Given the description of an element on the screen output the (x, y) to click on. 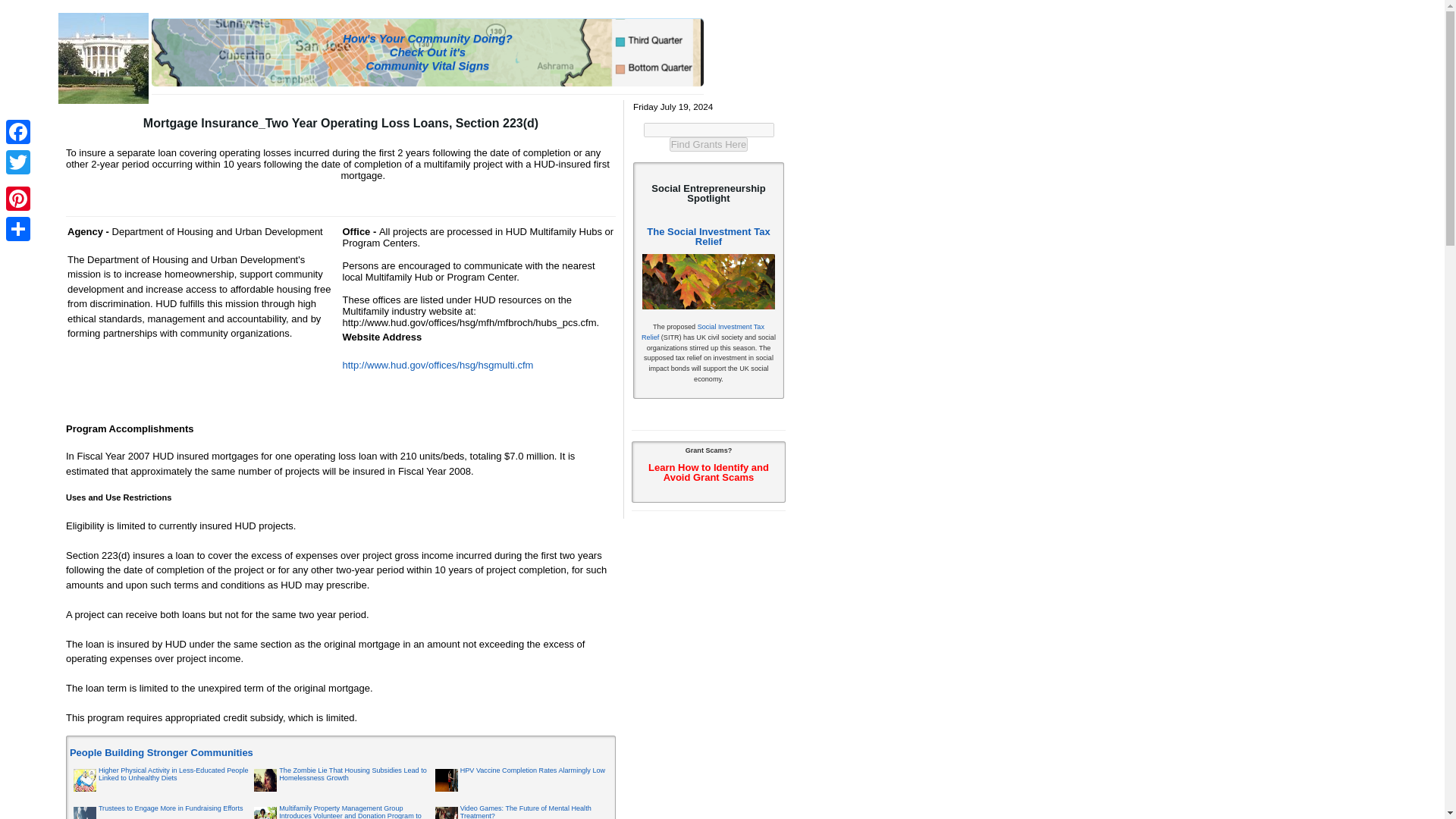
The Social Investment Tax Relief (708, 236)
Learn How to Identify and Avoid Grant Scams (707, 472)
Trustees to Engage More in Fundraising Efforts (171, 808)
People Building Stronger Communities (161, 752)
Video Games: The Future of Mental Health Treatment? (525, 811)
Social Investment Tax Relief (703, 331)
HPV Vaccine Completion Rates Alarmingly Low (532, 769)
Find Grants Here (708, 144)
Find Grants Here (708, 144)
